Given the description of an element on the screen output the (x, y) to click on. 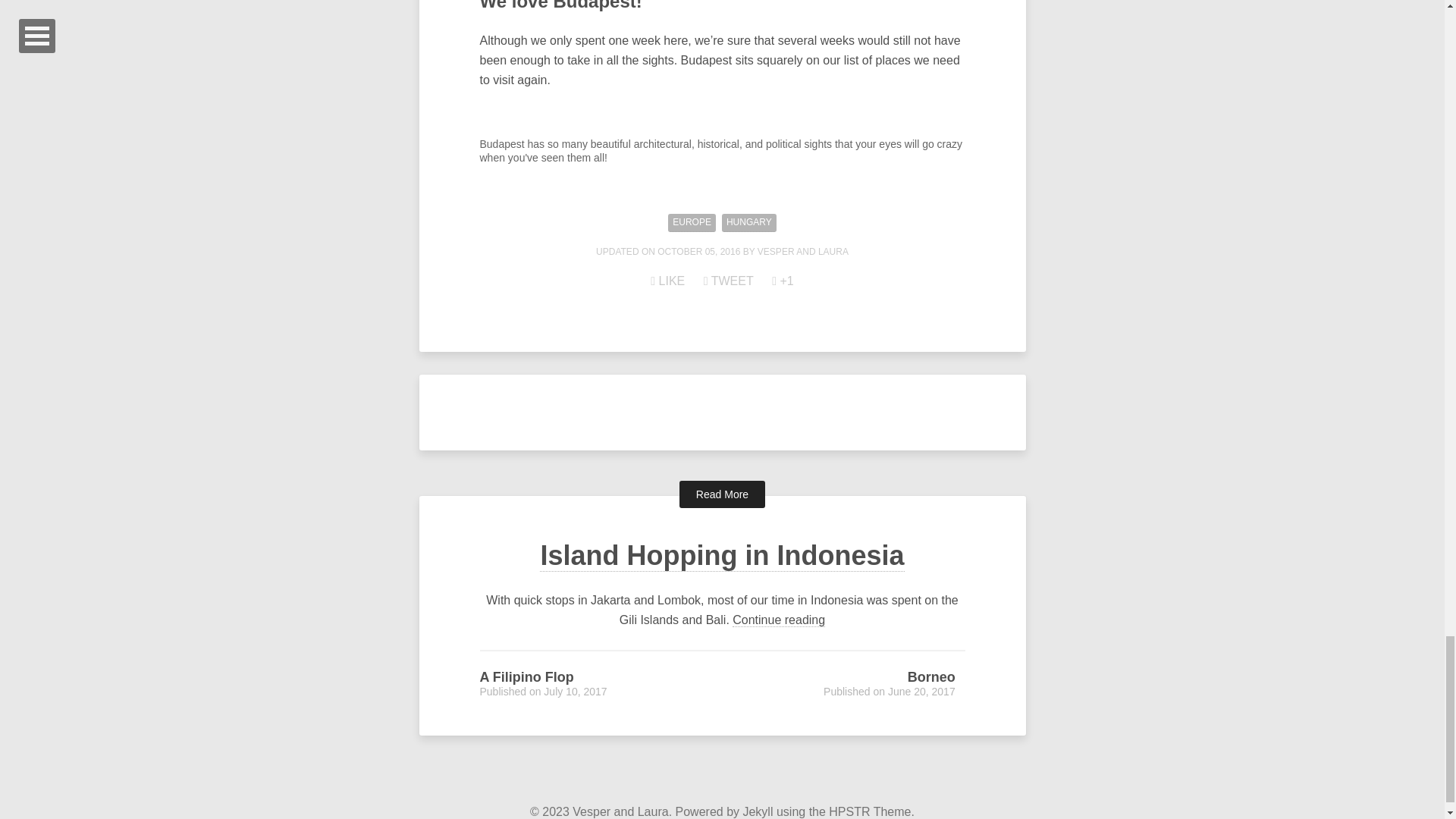
Pages tagged Hungary (749, 222)
Borneo (931, 676)
Pages tagged Europe (692, 222)
A Filipino Flop (526, 676)
Island Hopping in Indonesia (722, 555)
Share on Twitter (728, 280)
Share on Google Plus (782, 280)
Share on Facebook (667, 280)
